Given the description of an element on the screen output the (x, y) to click on. 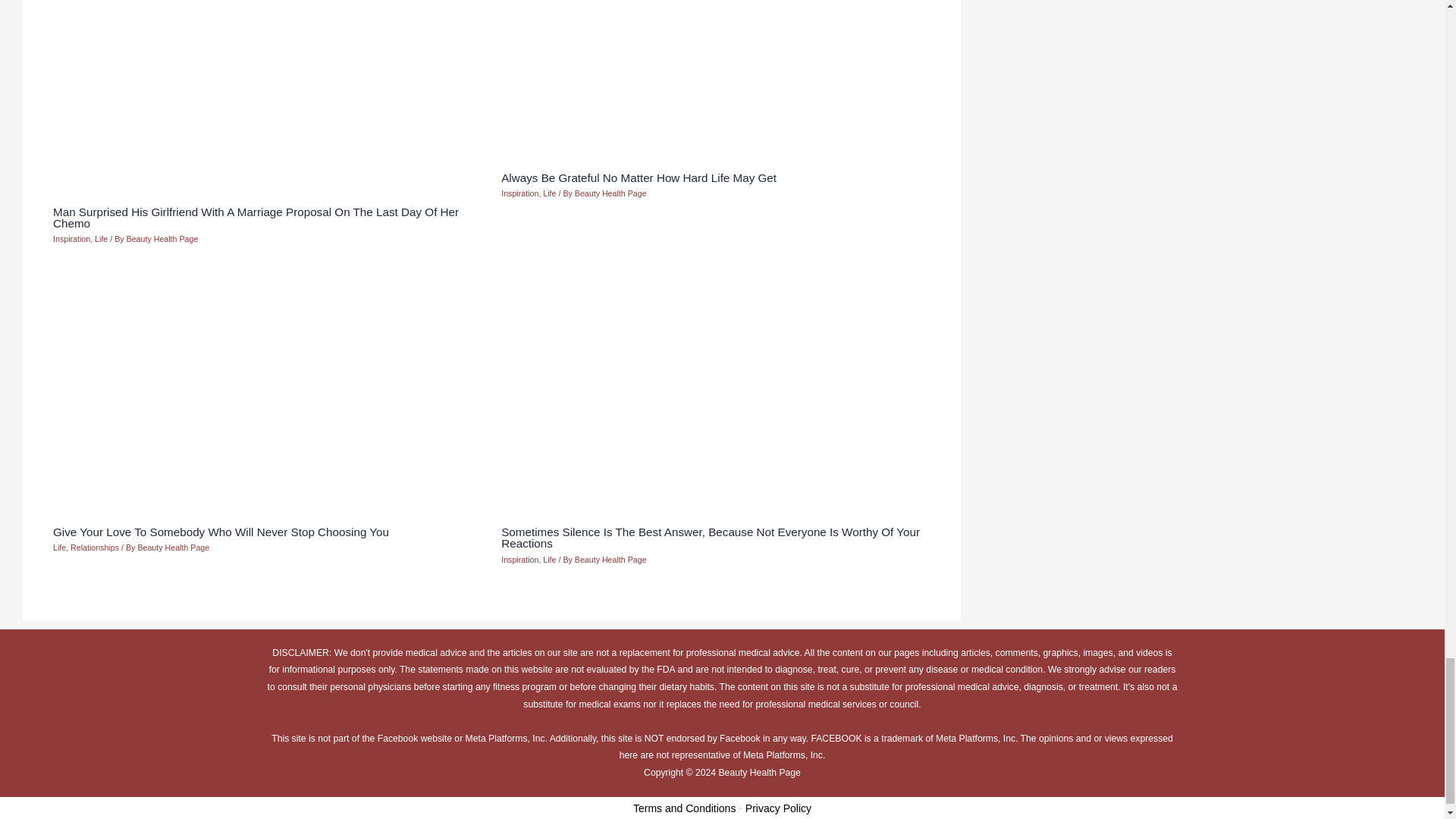
View all posts by Beauty Health Page (610, 559)
View all posts by Beauty Health Page (162, 238)
View all posts by Beauty Health Page (610, 193)
View all posts by Beauty Health Page (172, 547)
